Given the description of an element on the screen output the (x, y) to click on. 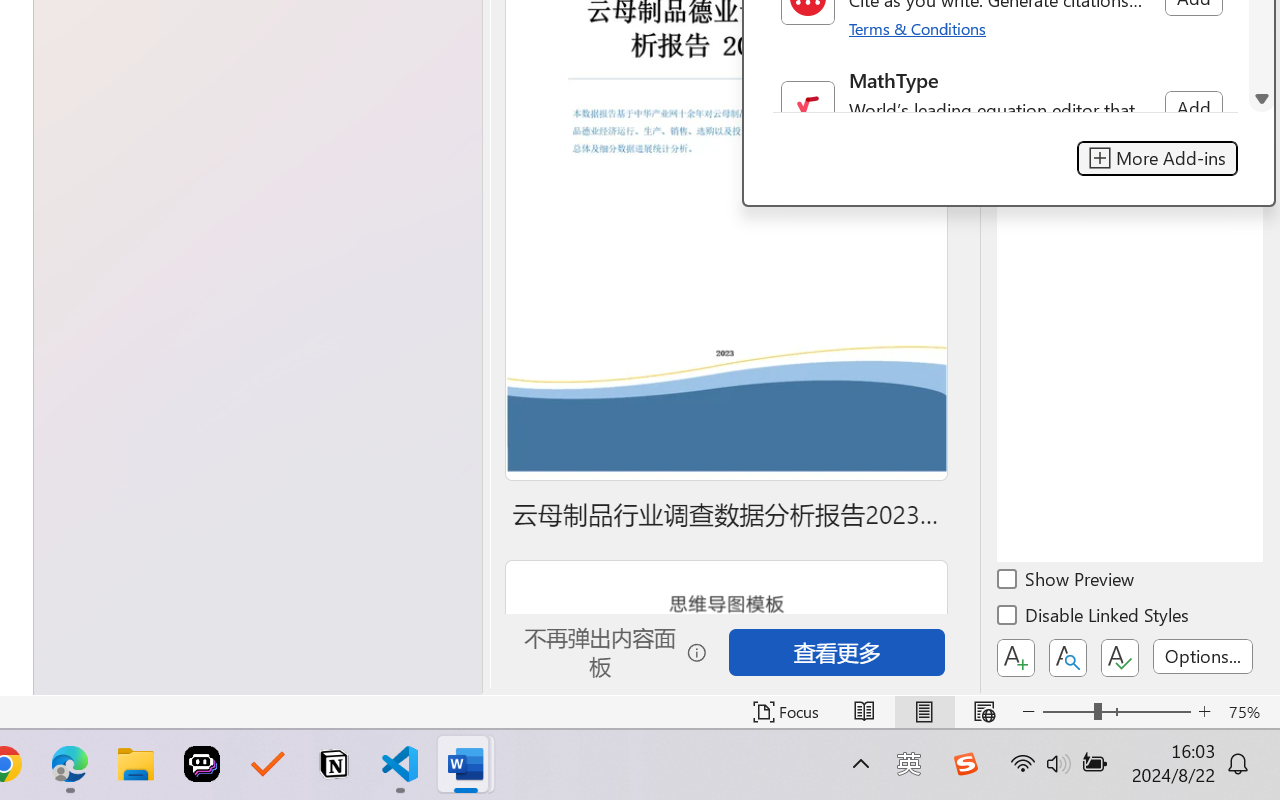
Print Layout (924, 712)
Web Layout (984, 712)
Poe (201, 764)
